Given the description of an element on the screen output the (x, y) to click on. 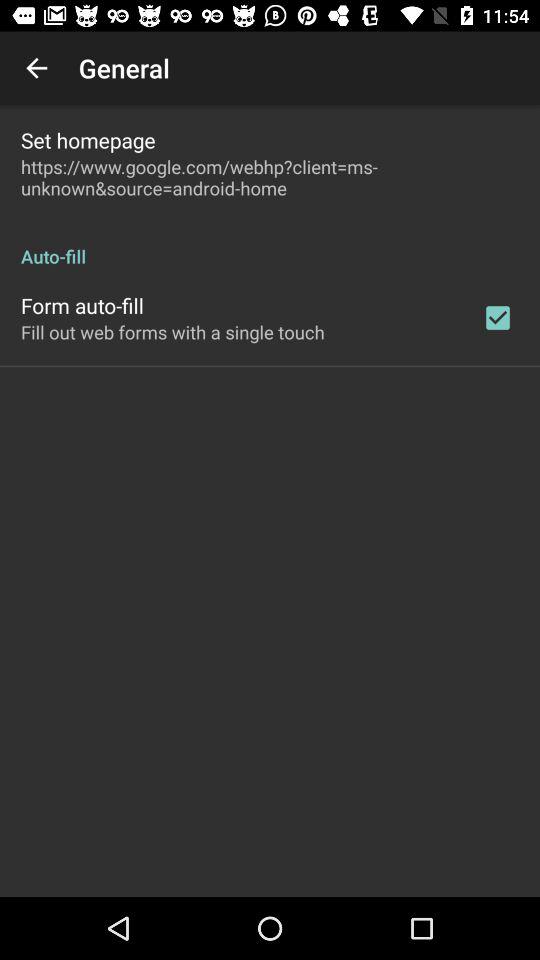
turn on app next to the general item (36, 68)
